Given the description of an element on the screen output the (x, y) to click on. 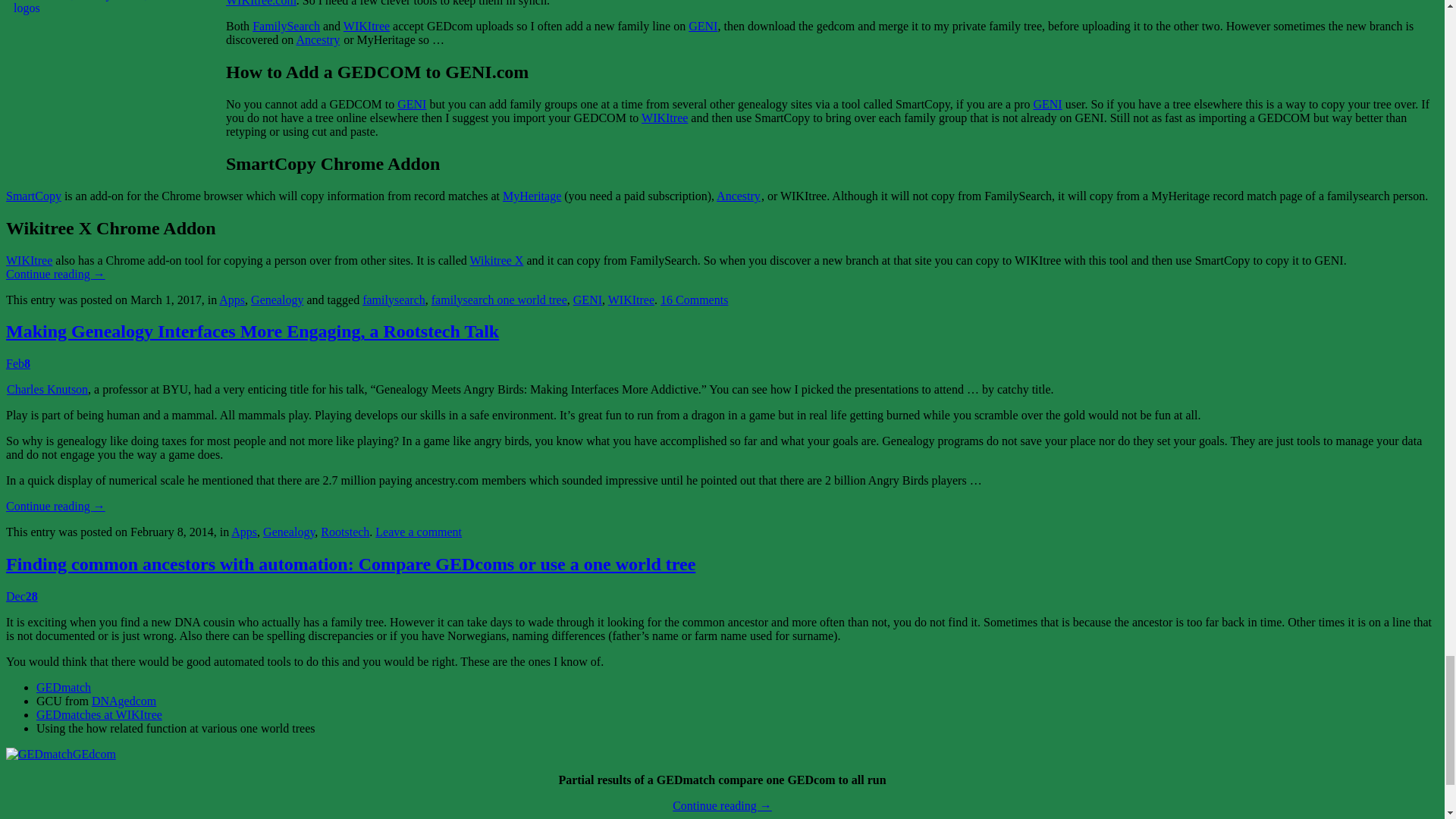
December 28, 2013 (21, 595)
February 8, 2014 (17, 363)
